Given the description of an element on the screen output the (x, y) to click on. 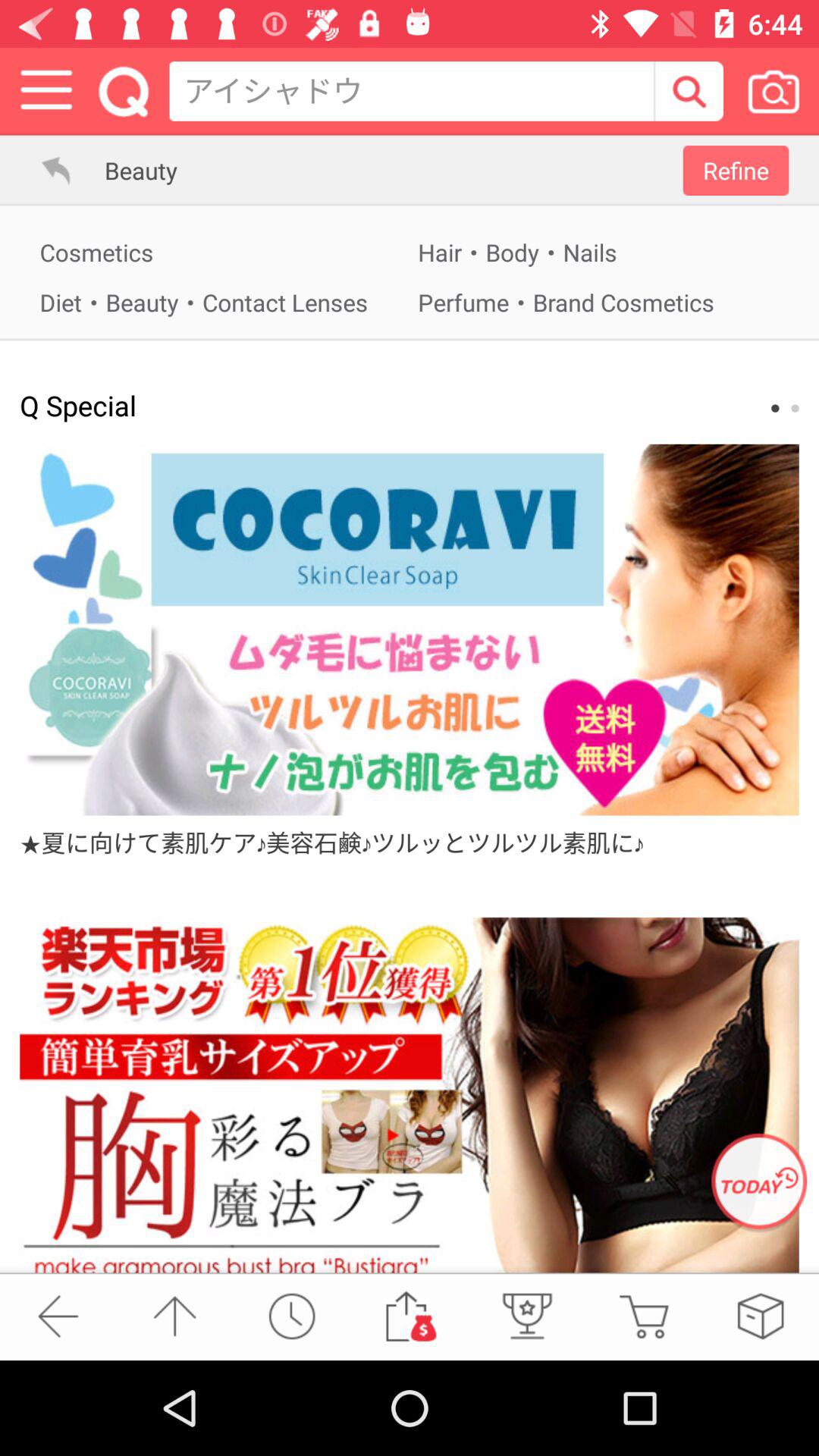
go to cart (642, 1316)
